Given the description of an element on the screen output the (x, y) to click on. 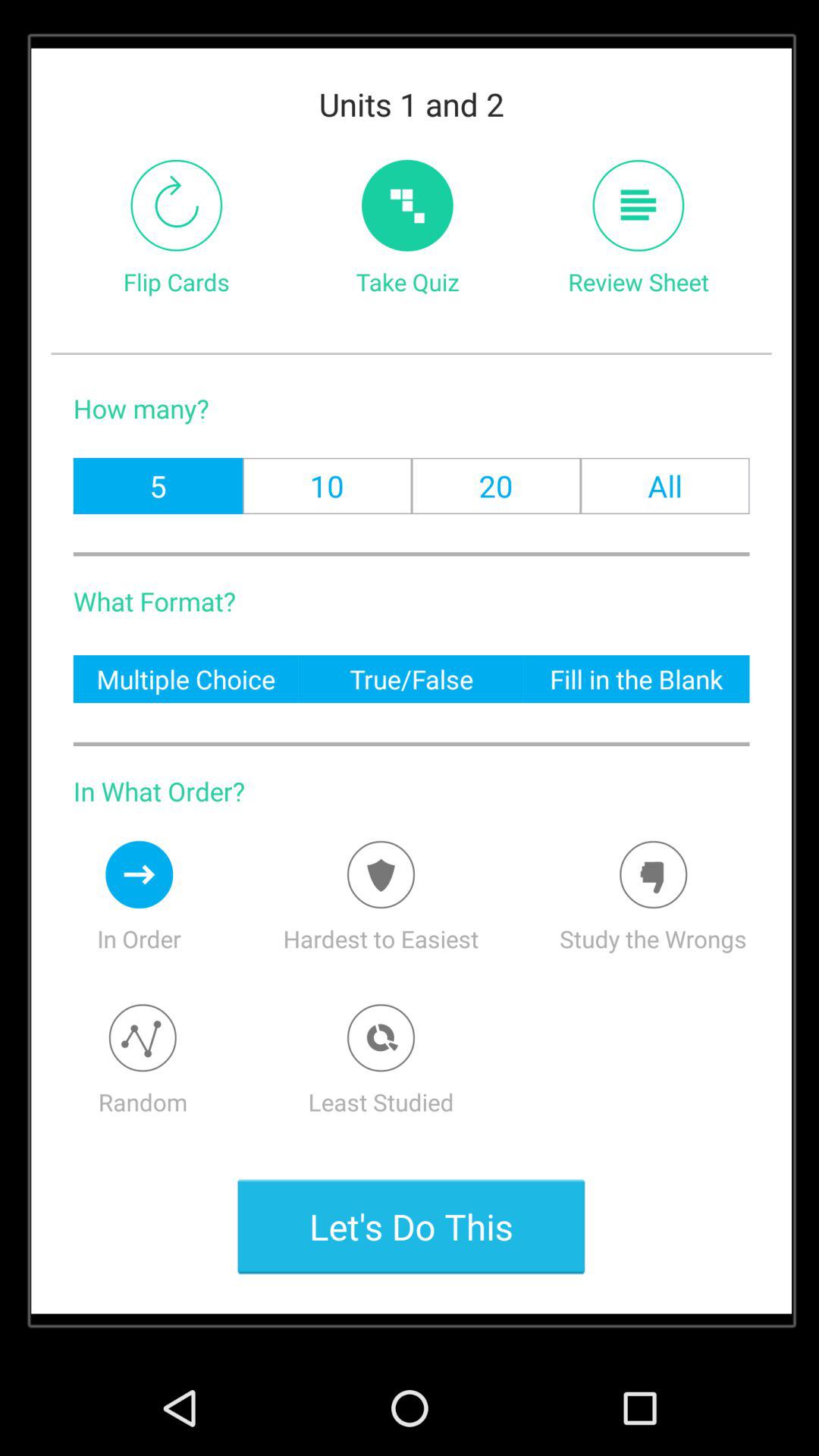
swipe to 20 icon (495, 485)
